Given the description of an element on the screen output the (x, y) to click on. 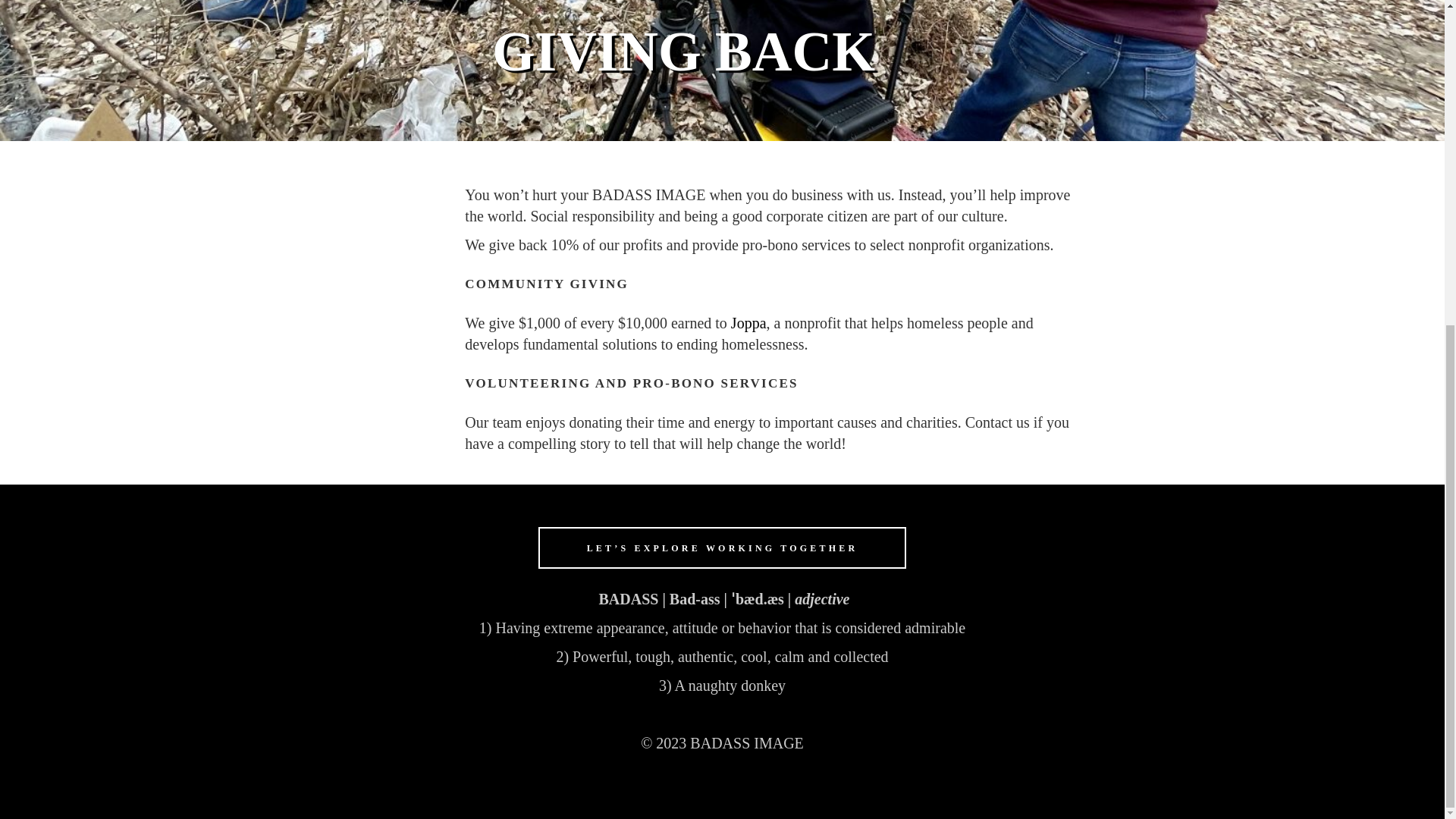
Joppa (748, 322)
